Given the description of an element on the screen output the (x, y) to click on. 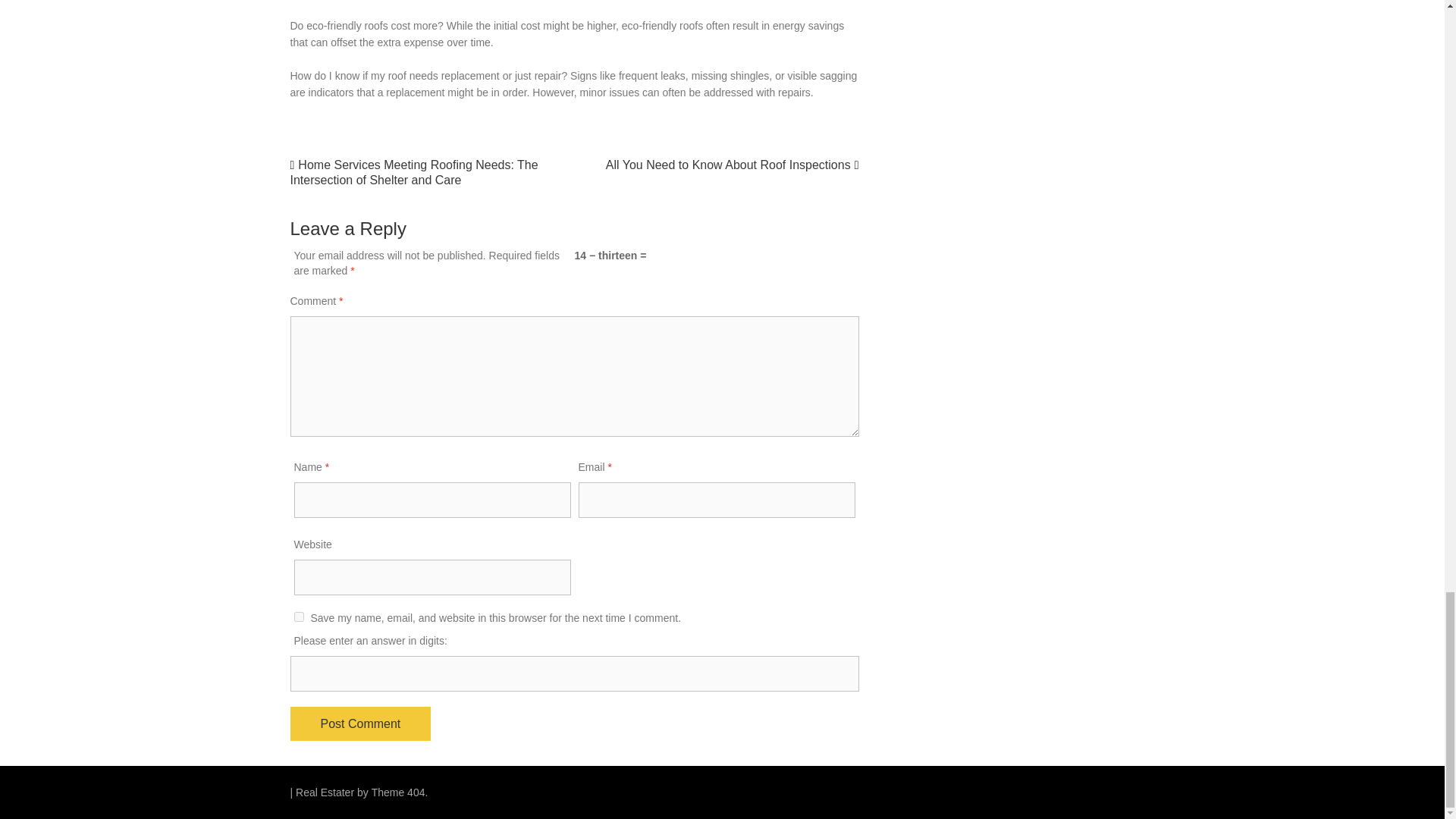
Post Comment (359, 723)
All You Need to Know About Roof Inspections (728, 164)
Theme 404 (398, 792)
Post Comment (359, 723)
yes (299, 616)
